Given the description of an element on the screen output the (x, y) to click on. 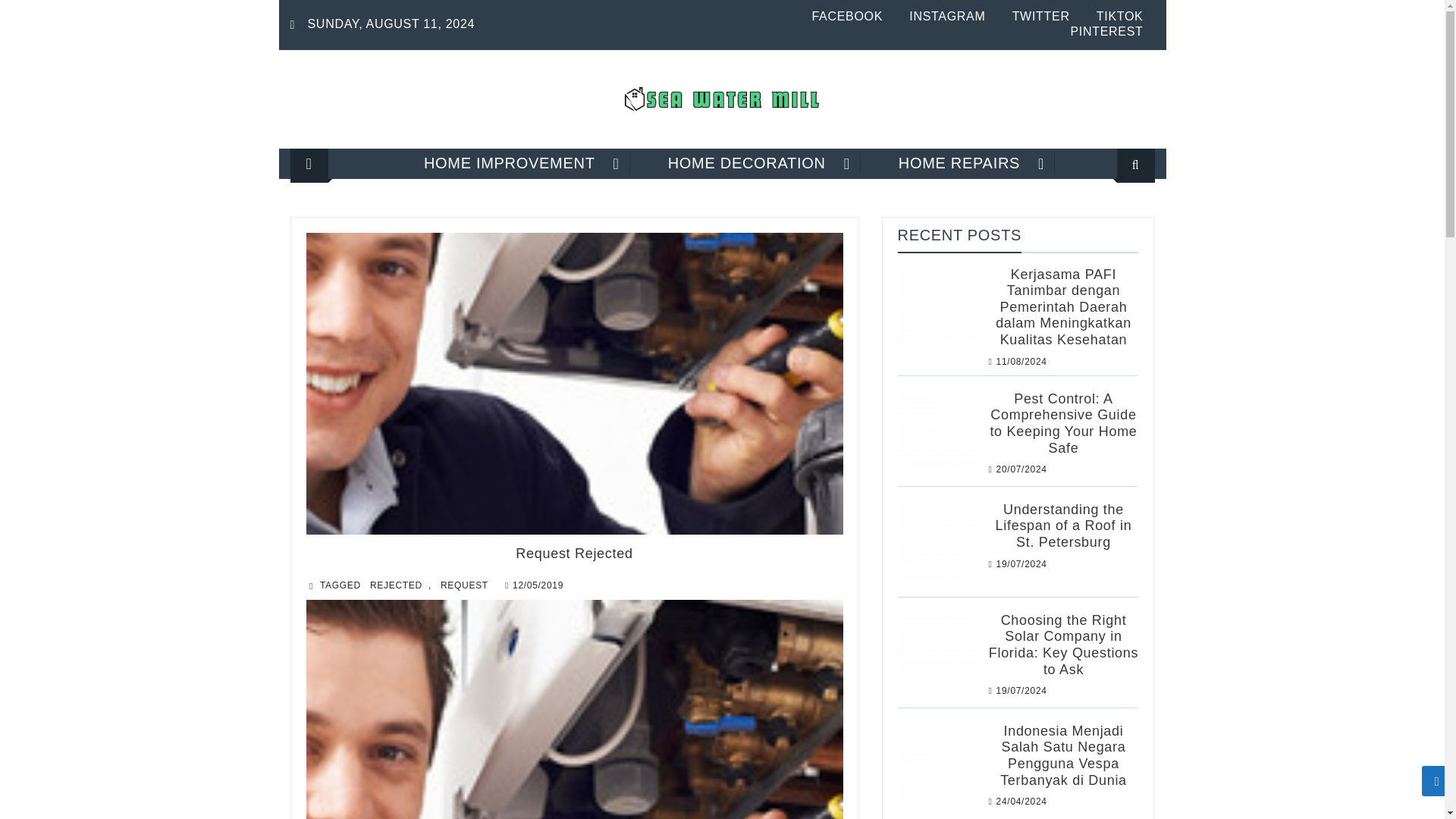
HOME DECORATION (746, 163)
HOME IMPROVEMENT (510, 163)
Understanding the Lifespan of a Roof in St. Petersburg (1063, 525)
REQUEST (464, 585)
TIKTOK (1119, 15)
PINTEREST (1106, 31)
